Given the description of an element on the screen output the (x, y) to click on. 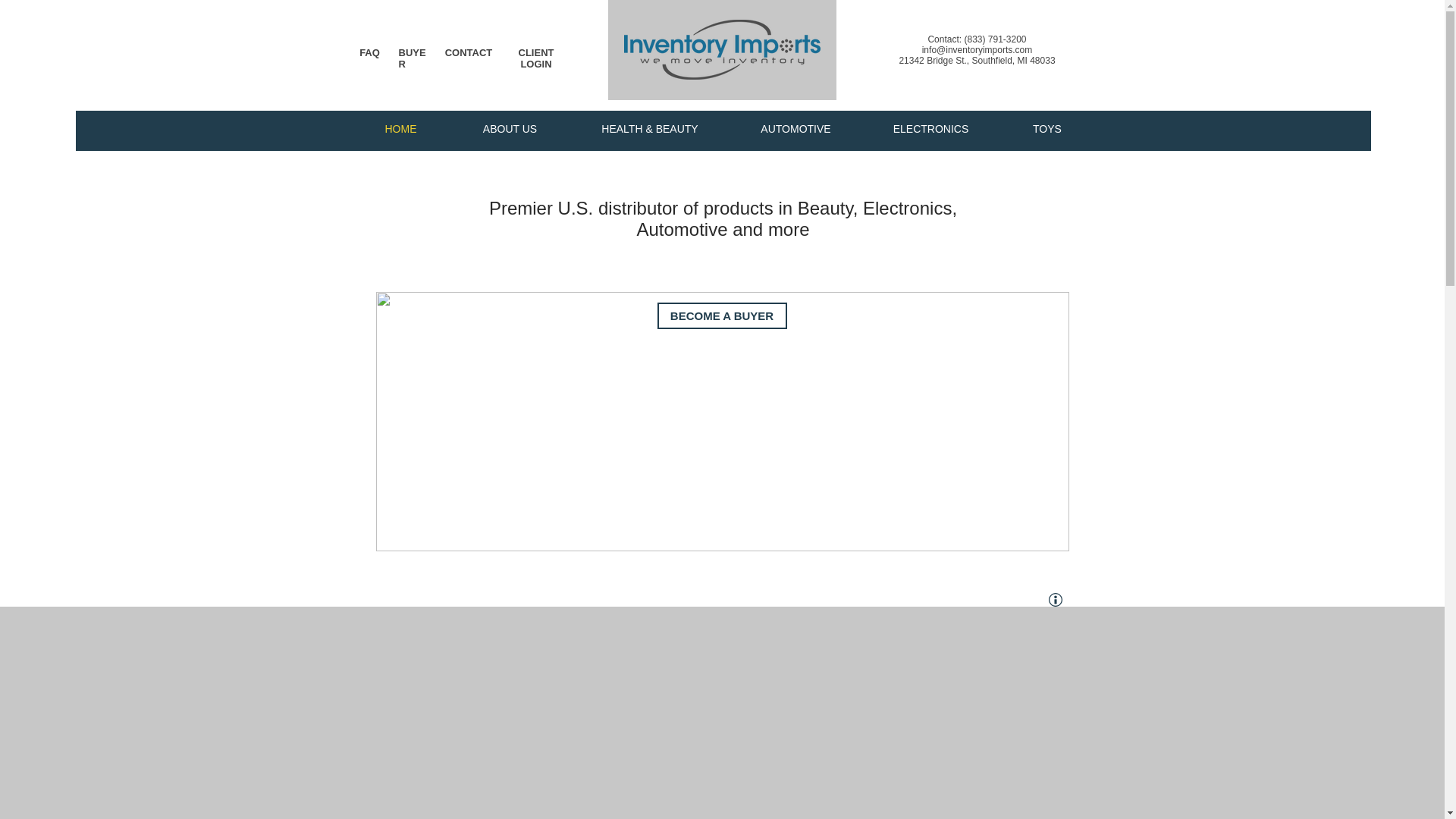
ELECTRONICS (929, 128)
CONTACT (469, 52)
CLIENT LOGIN (536, 57)
ABOUT US (509, 128)
BUYER (412, 57)
FAQ (369, 52)
AUTOMOTIVE (795, 128)
TOYS (1046, 128)
BECOME A BUYER (721, 315)
HOME (400, 128)
